Given the description of an element on the screen output the (x, y) to click on. 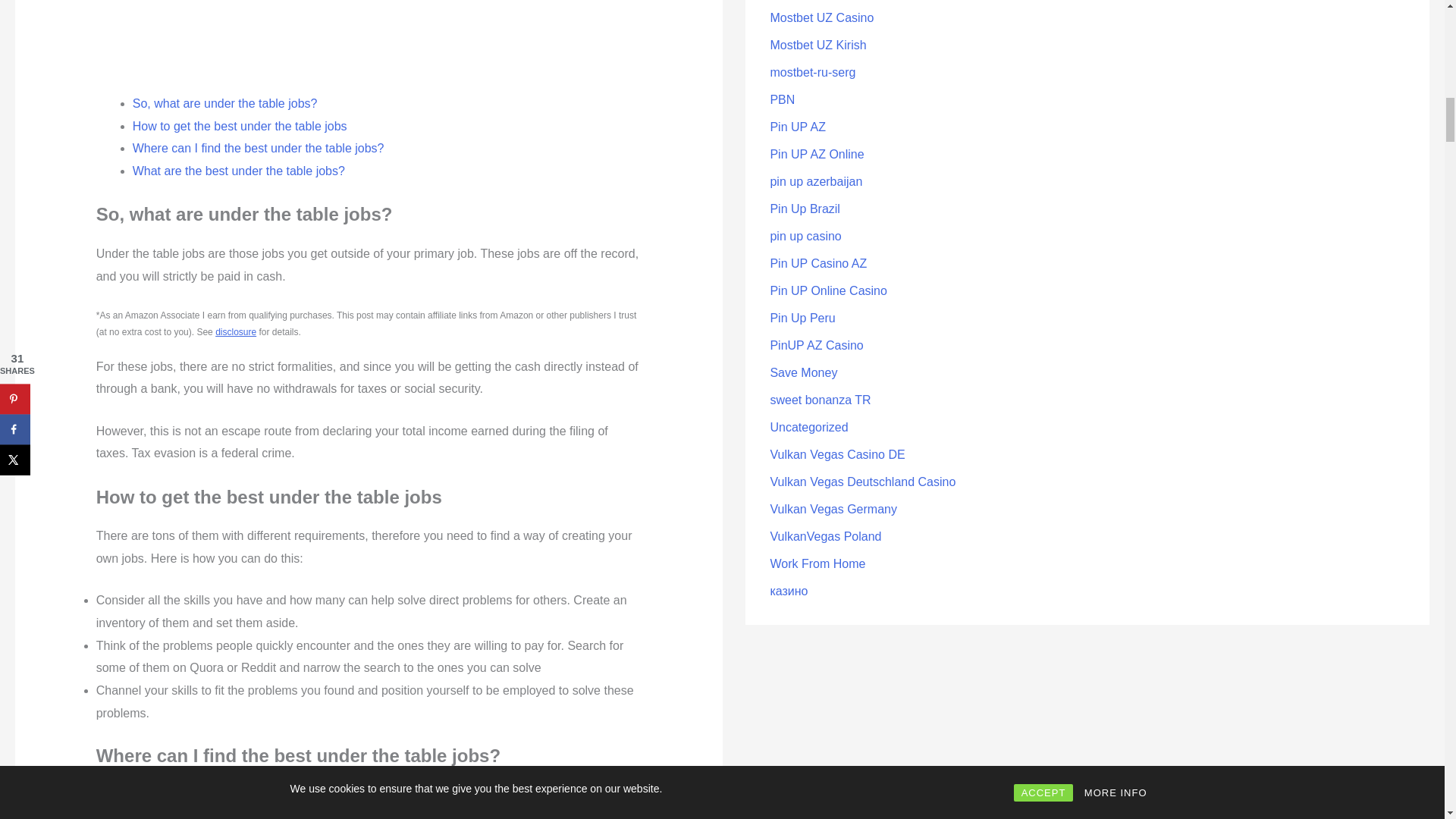
disclosure (235, 331)
Where can I find the best under the table jobs? (258, 147)
How to get the best under the table jobs (239, 125)
What are the best under the table jobs? (238, 170)
So, what are under the table jobs? (224, 103)
